Given the description of an element on the screen output the (x, y) to click on. 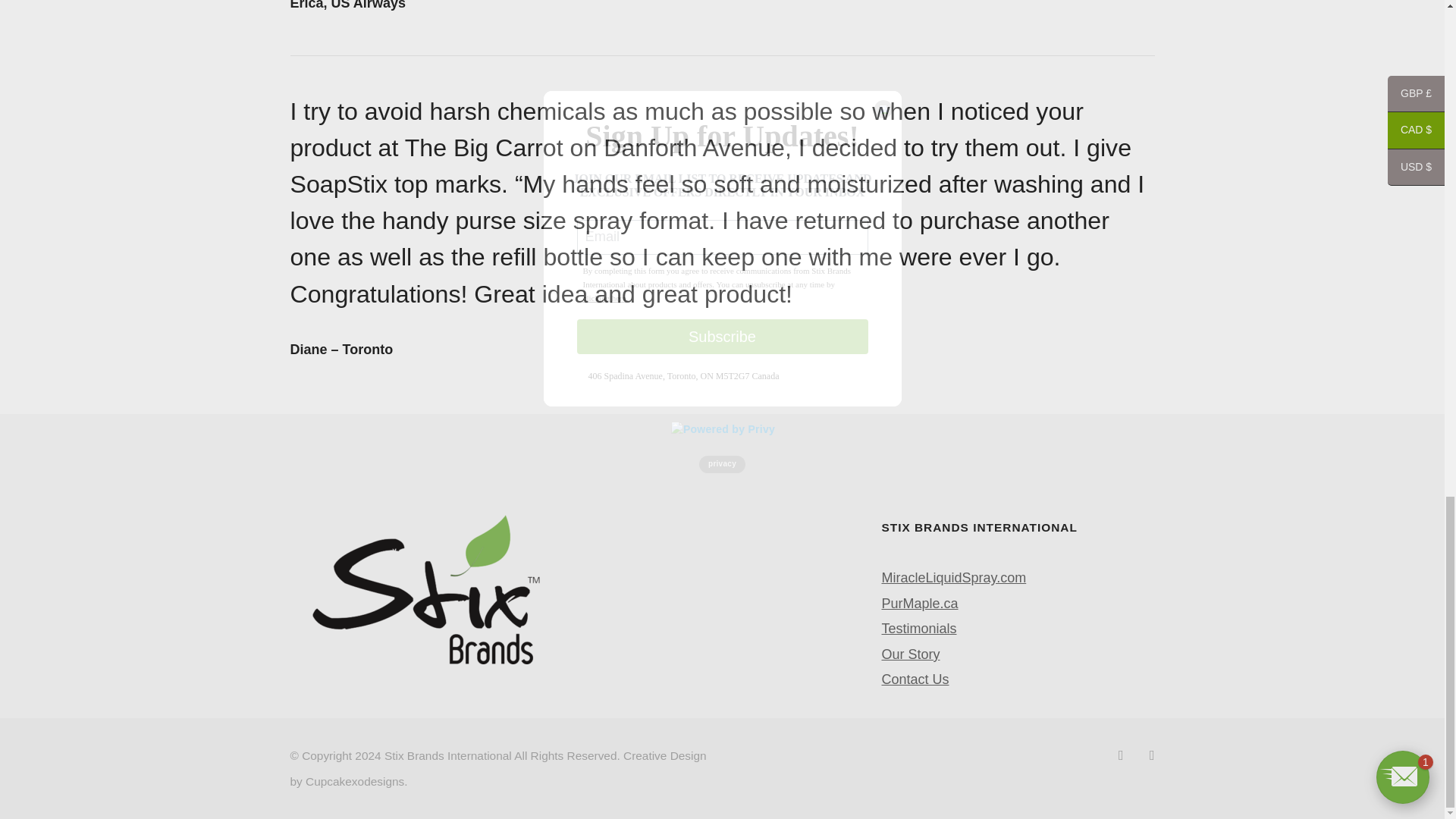
PurMaple.ca (919, 603)
Contact Us (914, 679)
Our Story (909, 654)
MiracleLiquidSpray.com (953, 577)
Testimonials (918, 628)
